Given the description of an element on the screen output the (x, y) to click on. 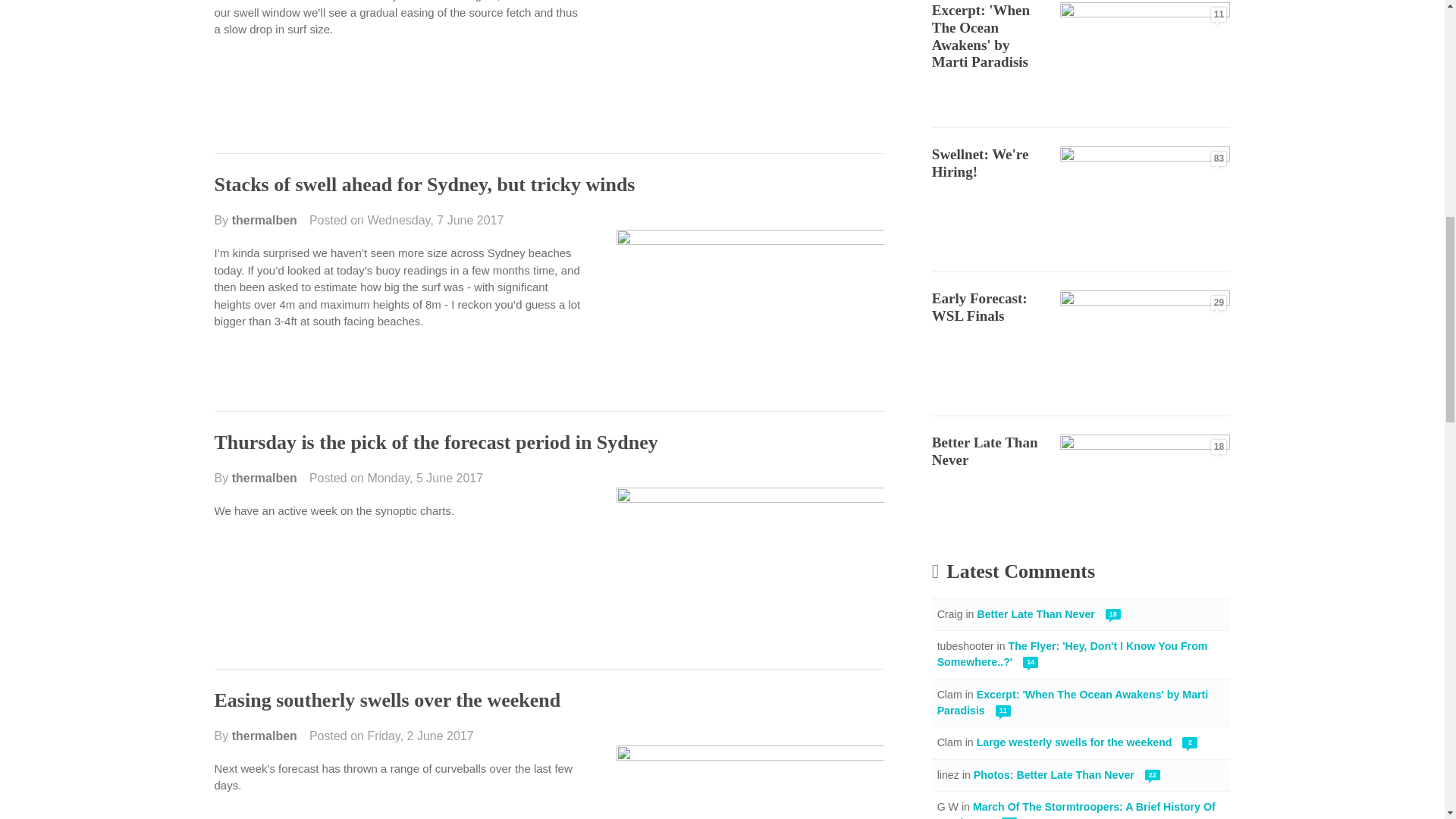
Stacks of swell ahead for Sydney, but tricky winds (424, 184)
Thursday is the pick of the forecast period in Sydney (436, 442)
Easing southerly swells over the weekend (387, 700)
